Given the description of an element on the screen output the (x, y) to click on. 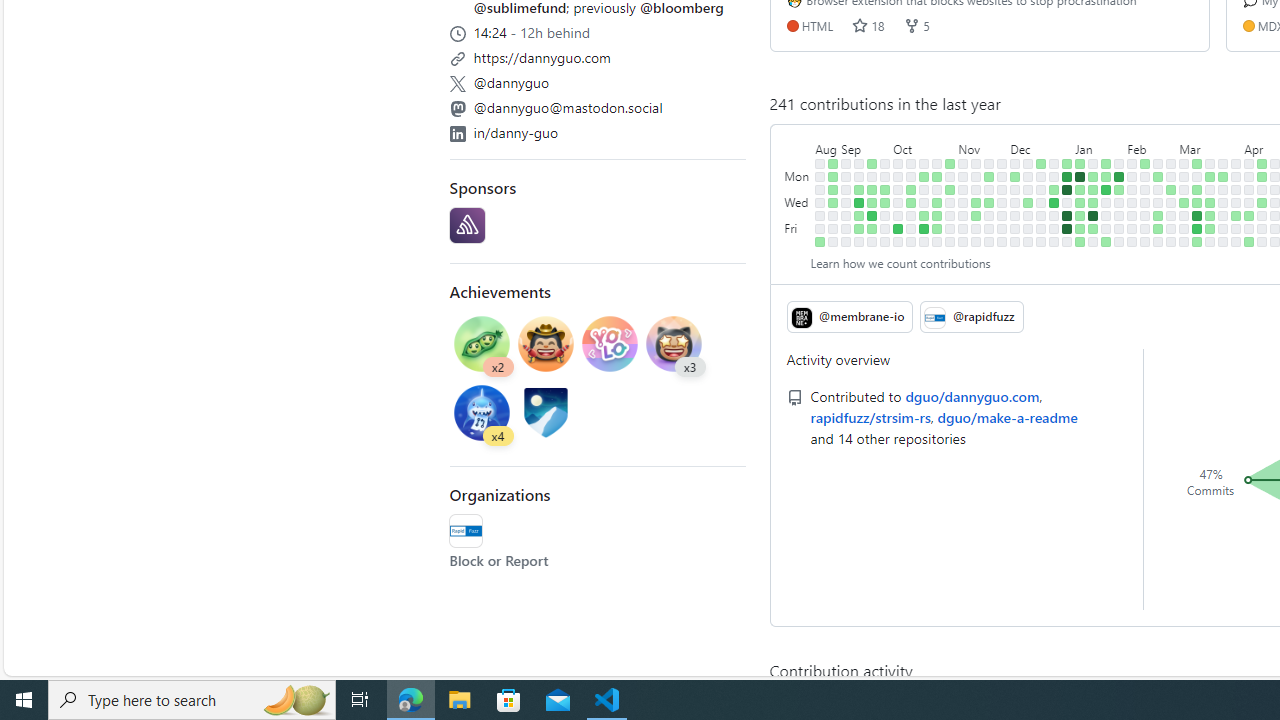
2 contributions on December 26th. (1054, 189)
in/danny-guo (597, 130)
Achievement: Pull Shark x4 (481, 415)
1 contribution on January 19th. (1093, 228)
No contributions on September 7th. (846, 215)
No contributions on November 29th. (1002, 202)
Thursday (797, 215)
@rapidfuzz (465, 530)
No contributions on April 12th. (1249, 228)
11 contributions on January 18th. (1093, 215)
No contributions on November 3rd. (950, 228)
1 contribution on September 14th. (859, 215)
2 contributions on January 22nd. (1106, 176)
No contributions on November 19th. (989, 163)
1 contribution on October 23rd. (937, 176)
